Given the description of an element on the screen output the (x, y) to click on. 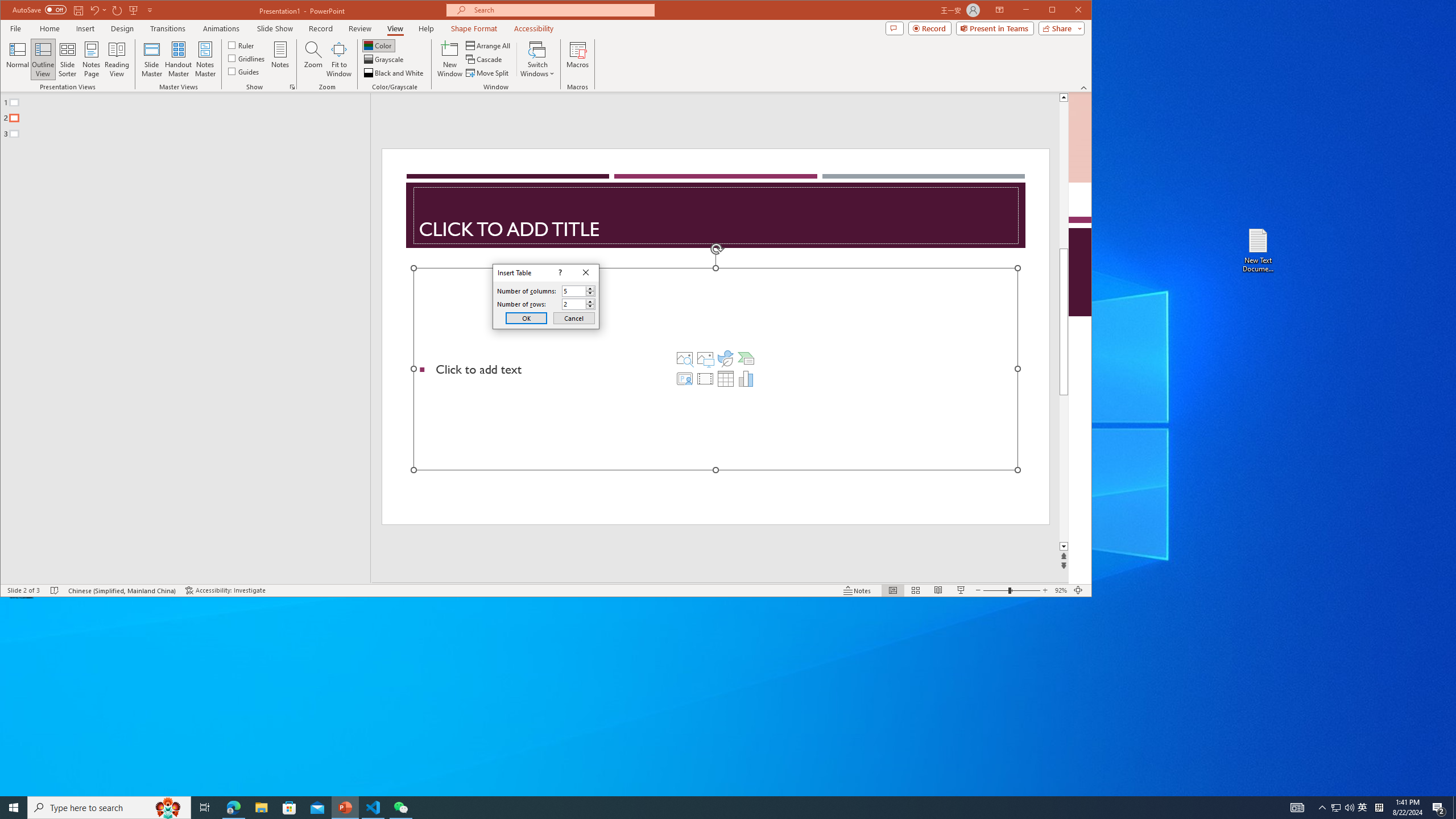
New Window (450, 59)
Outline (189, 115)
Pictures (704, 357)
Notes Master (204, 59)
Color (378, 45)
Insert Cameo (684, 378)
